Given the description of an element on the screen output the (x, y) to click on. 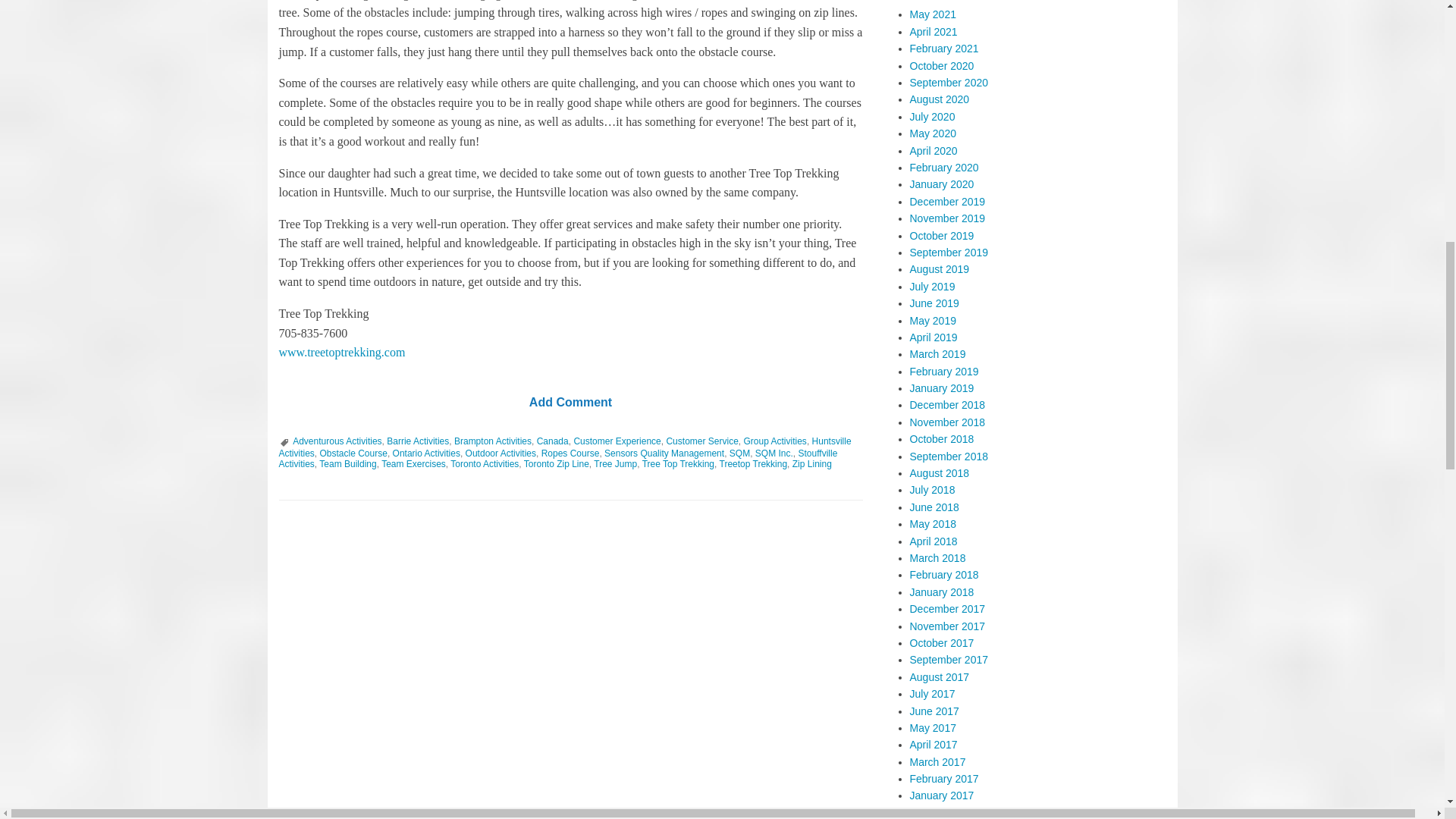
Barrie Activities (417, 440)
Outdoor Activities (500, 452)
Customer Experience (617, 440)
SQM (739, 452)
Sensors Quality Management (663, 452)
Brampton Activities (492, 440)
Huntsville Activities (565, 446)
Adventurous Activities (336, 440)
www.treetoptrekking.com (342, 351)
Tree Top Trekking (678, 463)
Canada (553, 440)
Zip Lining (811, 463)
Team Exercises (413, 463)
Treetop Trekking (753, 463)
Ropes Course (570, 452)
